Given the description of an element on the screen output the (x, y) to click on. 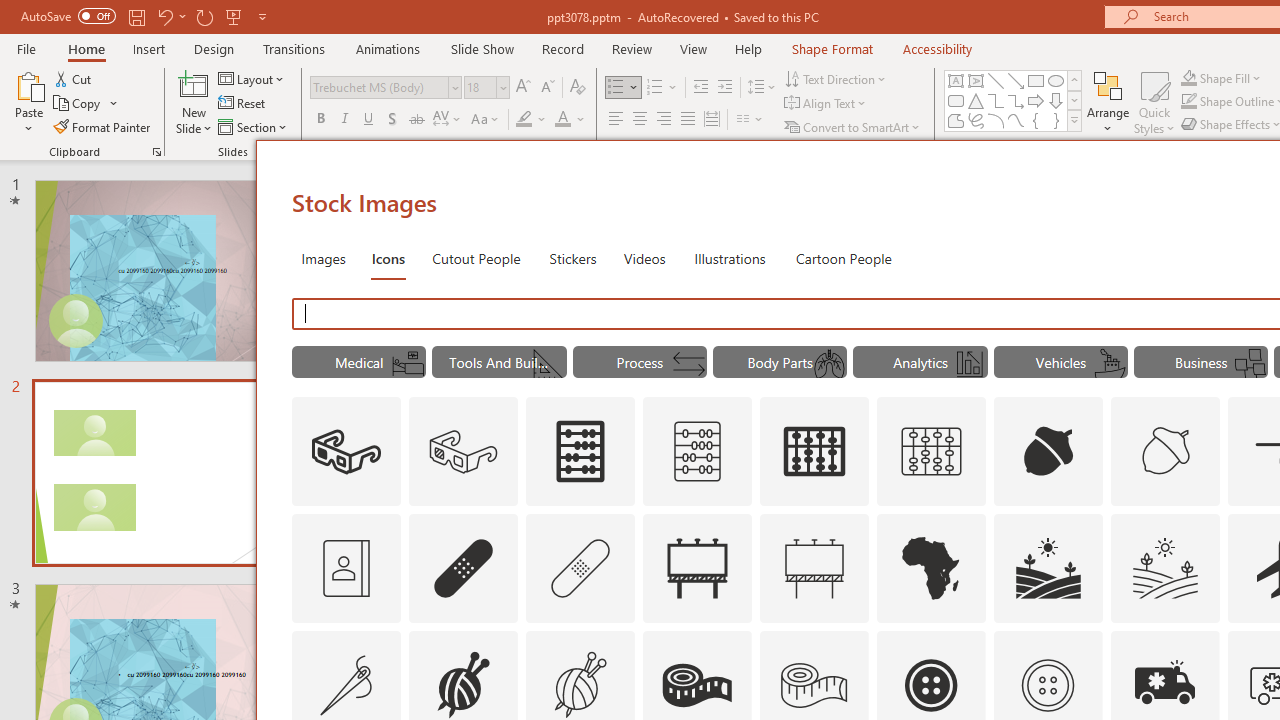
"Analytics" Icons. (920, 362)
"Tools And Building" Icons. (499, 362)
AutomationID: Icons_Inpatient_M (408, 364)
Stickers (573, 258)
